Given the description of an element on the screen output the (x, y) to click on. 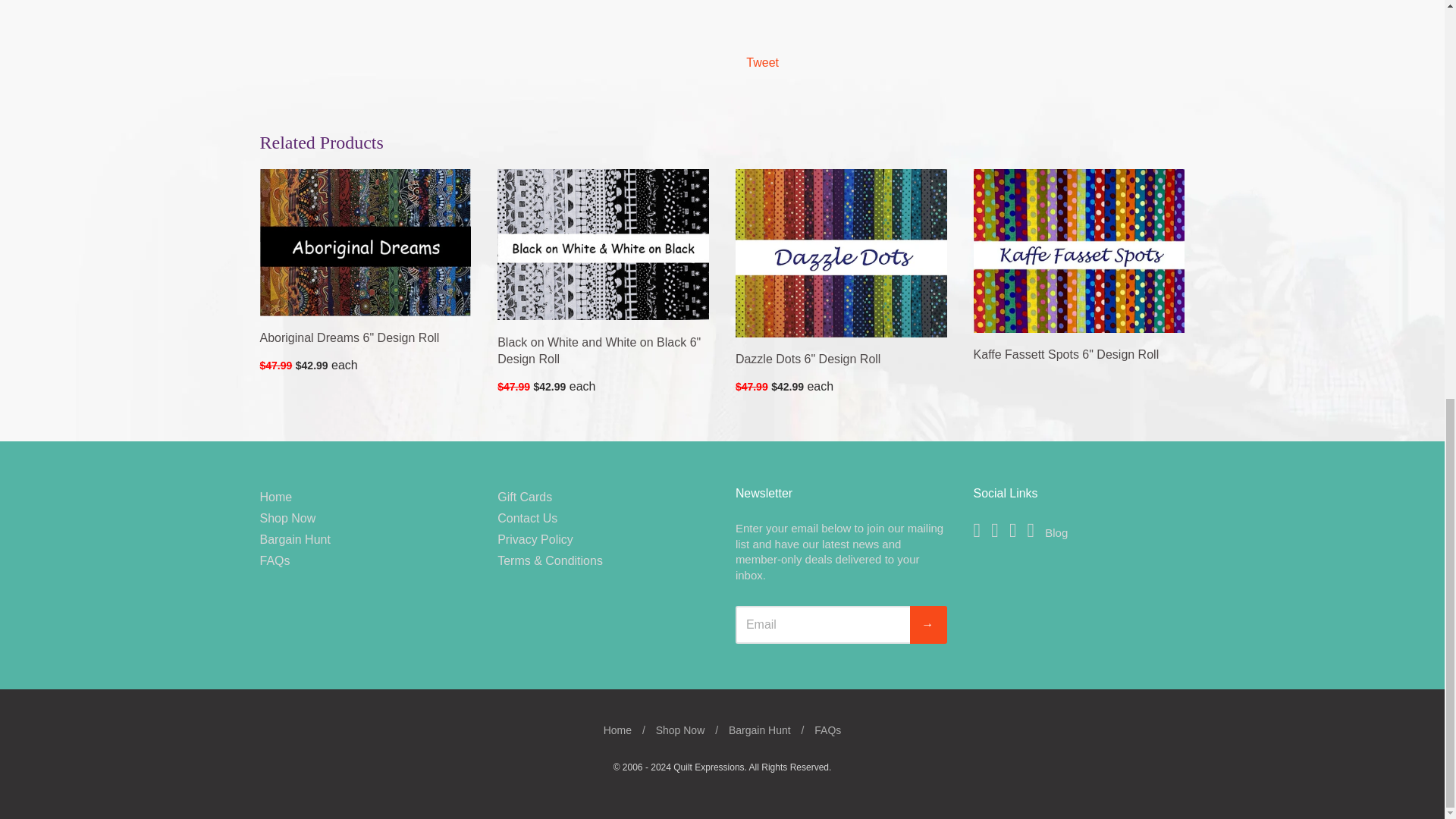
Dazzle Dots 6 (807, 358)
Dazzle Dots 6 (841, 252)
Black on White and White on Black 6 (603, 244)
Kaffe Fassett Spots 6 (1079, 250)
Kaffe Fassett Spots 6 (1066, 354)
Black on White and White on Black 6 (598, 350)
Aboriginal Dreams 6 (349, 337)
Aboriginal Dreams 6 (364, 242)
